Given the description of an element on the screen output the (x, y) to click on. 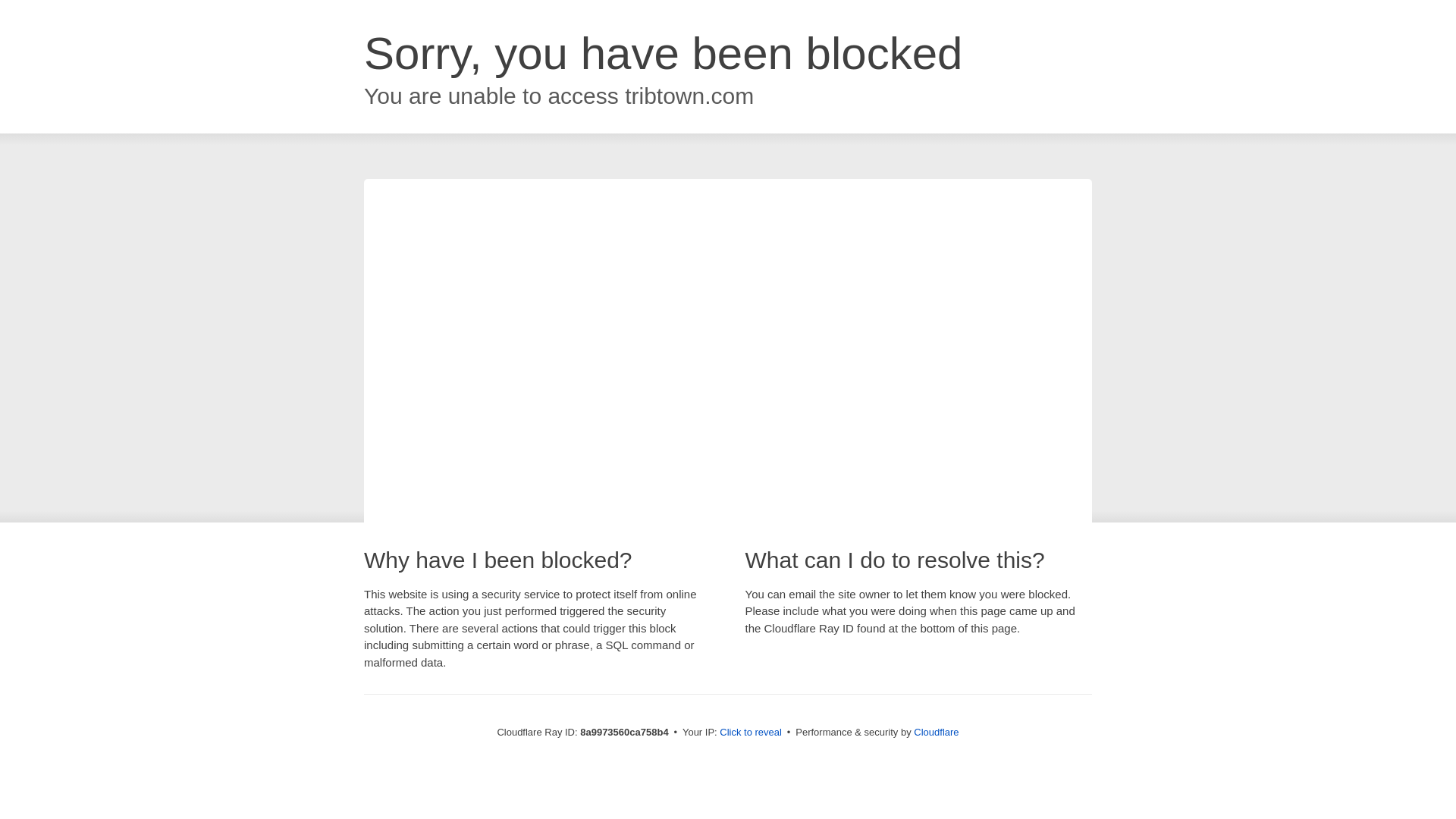
Cloudflare (936, 731)
Click to reveal (750, 732)
